Given the description of an element on the screen output the (x, y) to click on. 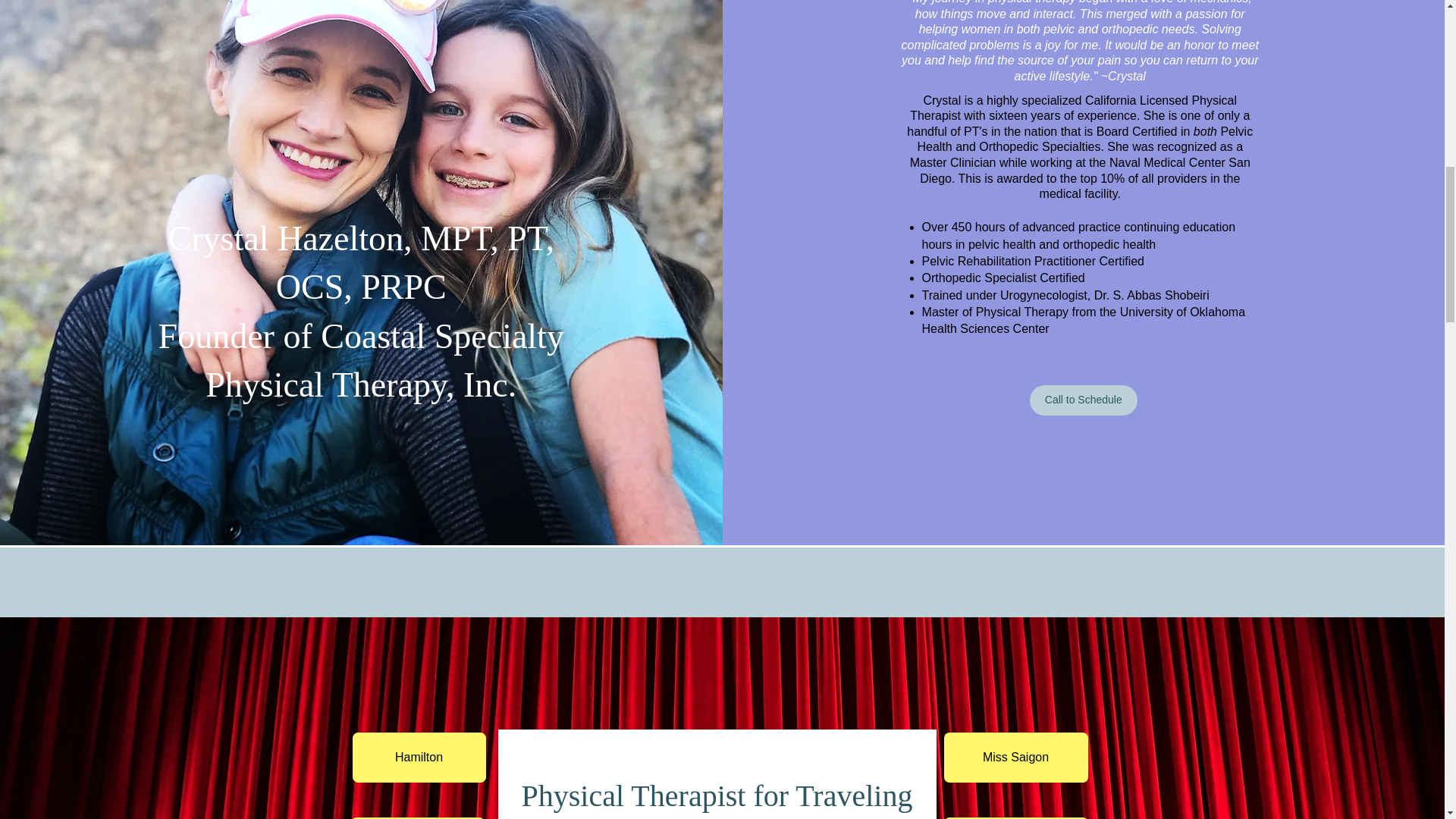
Miss Saigon (1015, 757)
Jesus Christ Superstar (1015, 818)
Call to Schedule (1083, 399)
Fiddler on the Roof (416, 818)
Hamilton (418, 757)
